Given the description of an element on the screen output the (x, y) to click on. 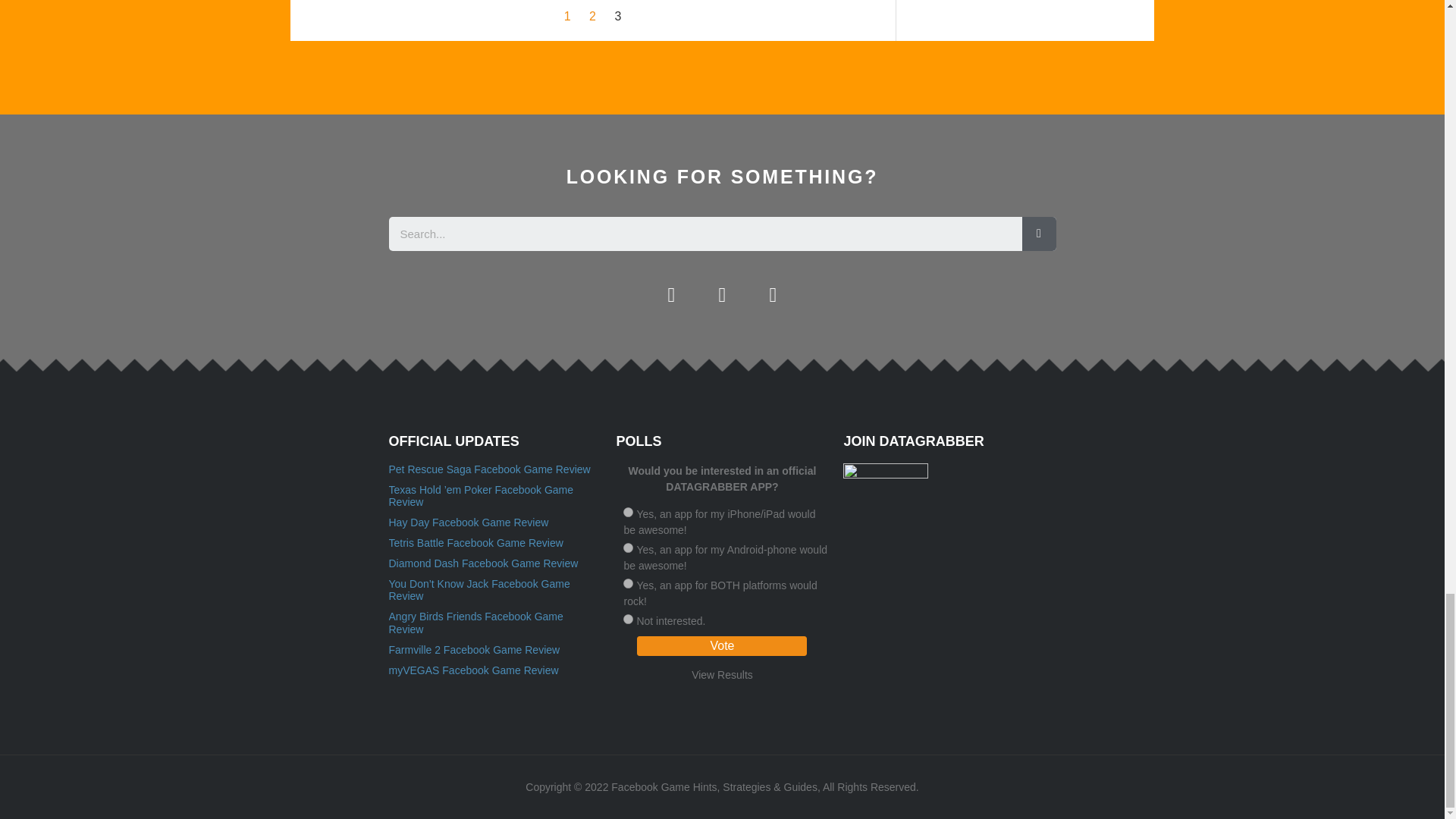
View Results Of This Poll (721, 674)
Search (705, 233)
34 (628, 619)
31 (628, 511)
32 (628, 547)
   Vote    (721, 646)
33 (628, 583)
Search (1039, 233)
